Given the description of an element on the screen output the (x, y) to click on. 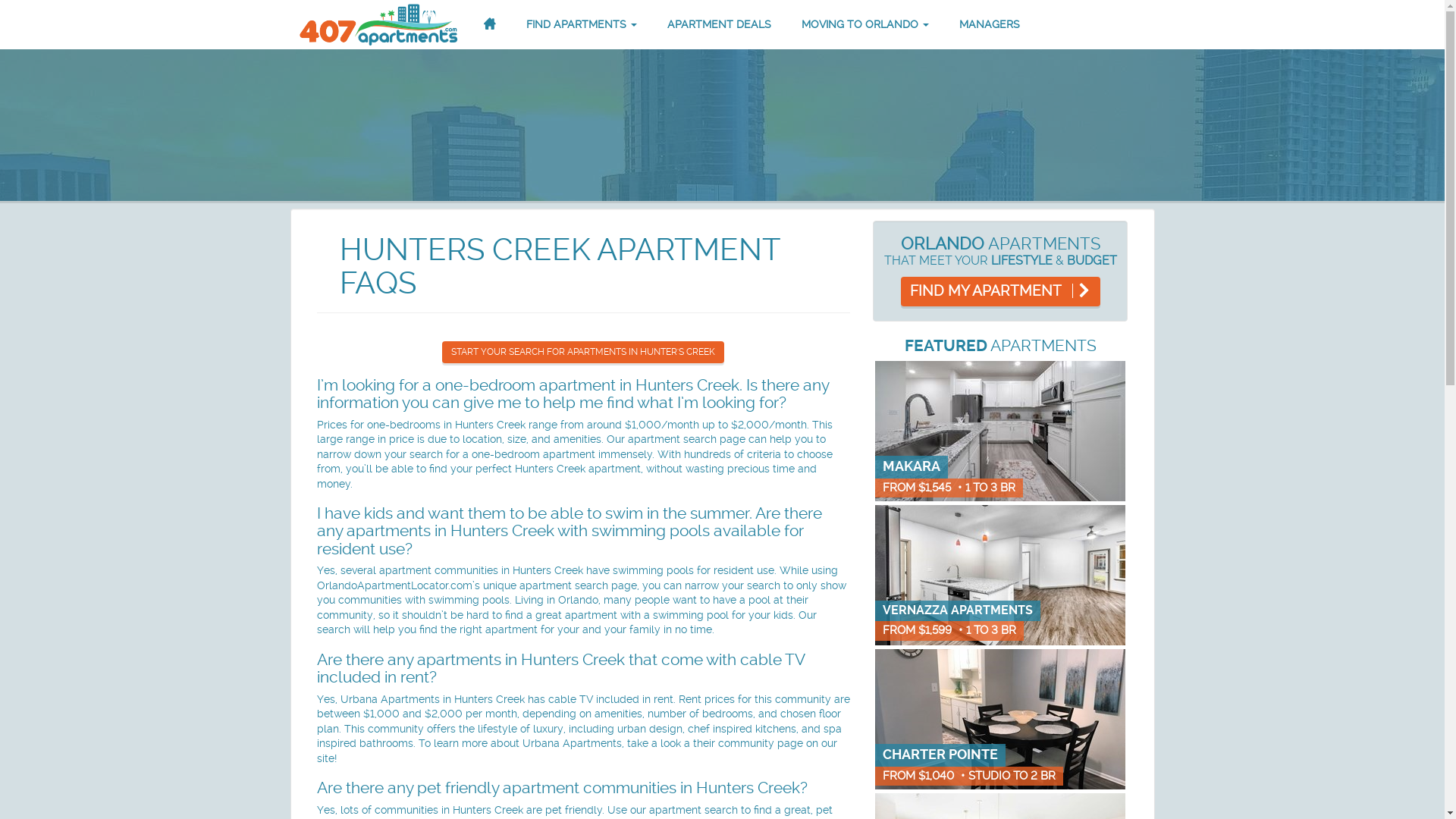
MOVING TO ORLANDO Element type: text (865, 24)
FIND MY APARTMENT Element type: text (1000, 291)
_Home Element type: hover (488, 24)
START YOUR SEARCH FOR APARTMENTS IN HUNTER'S CREEK Element type: text (583, 352)
Orlando, FL Apartments Element type: hover (377, 24)
APARTMENT DEALS Element type: text (718, 24)
FIND APARTMENTS Element type: text (580, 24)
MANAGERS Element type: text (989, 24)
